Given the description of an element on the screen output the (x, y) to click on. 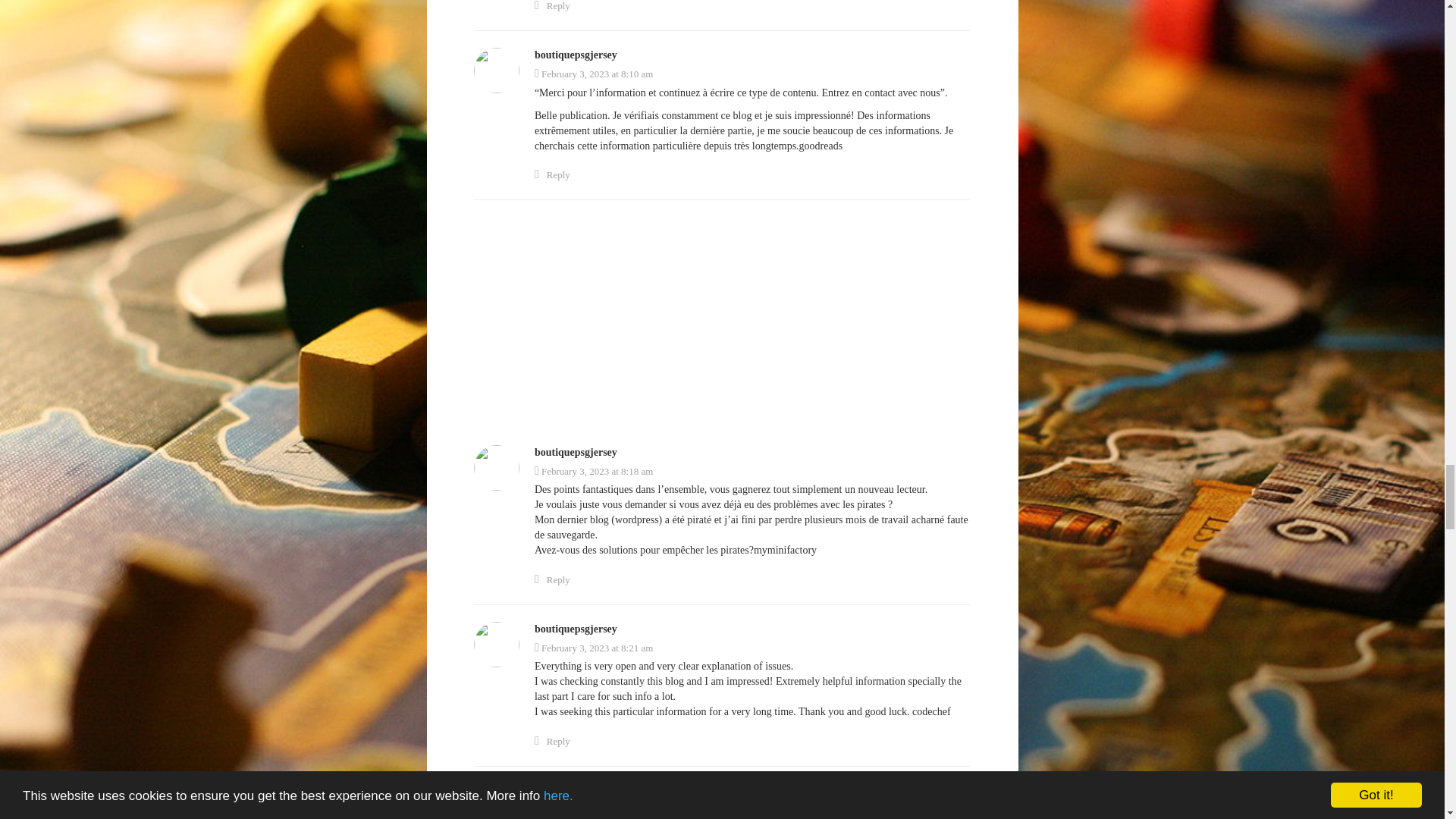
Reply (552, 6)
February 3, 2023 at 8:10 am (593, 73)
boutiquepsgjersey (575, 54)
